Given the description of an element on the screen output the (x, y) to click on. 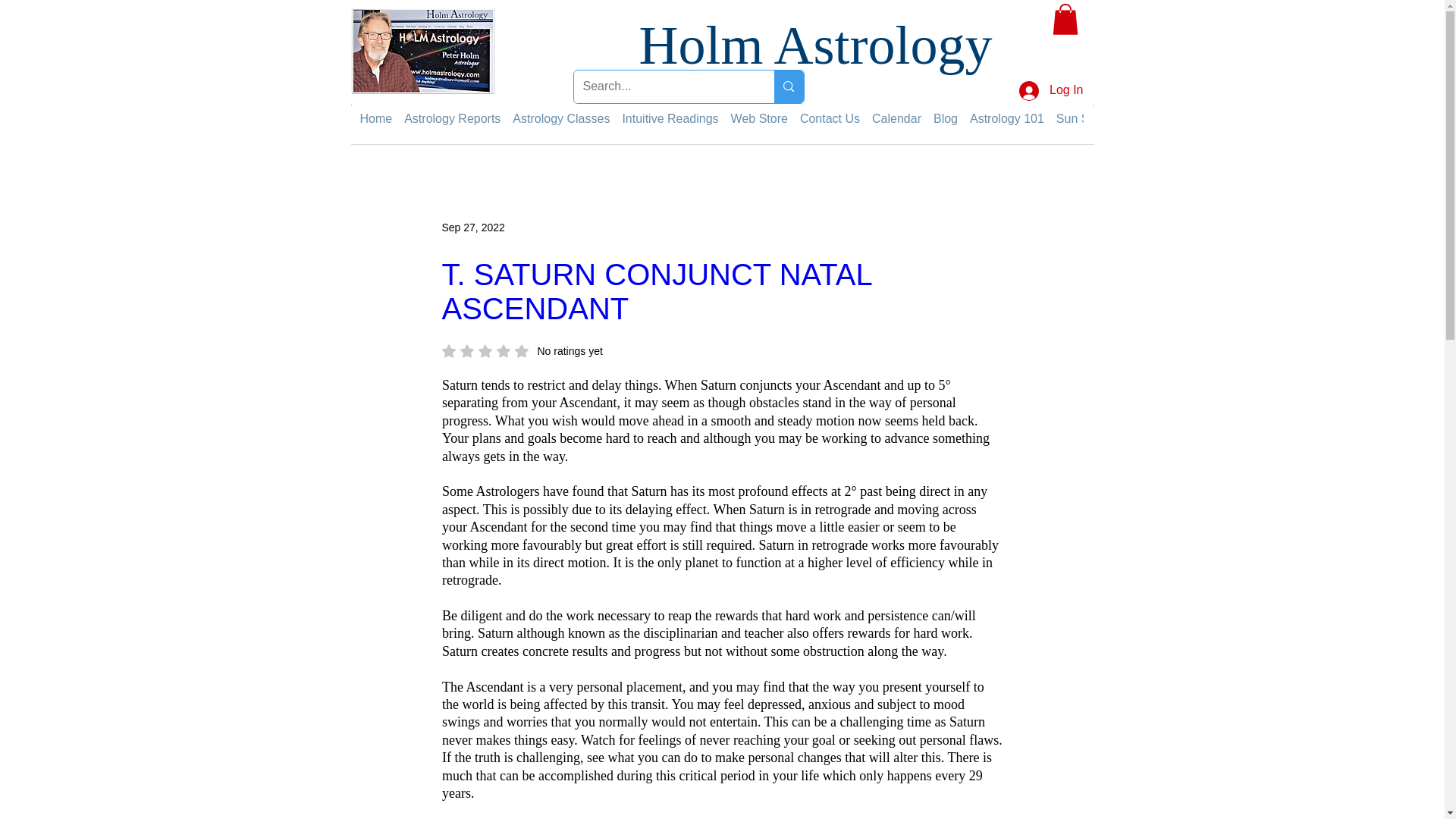
Sep 27, 2022 (472, 227)
Log In (1051, 90)
Astrology 101 (1006, 118)
Web Store (758, 118)
Blog (945, 118)
Astrology Classes (561, 118)
The Planets (1156, 118)
Calendar (896, 118)
Intuitive Readings (669, 118)
